Given the description of an element on the screen output the (x, y) to click on. 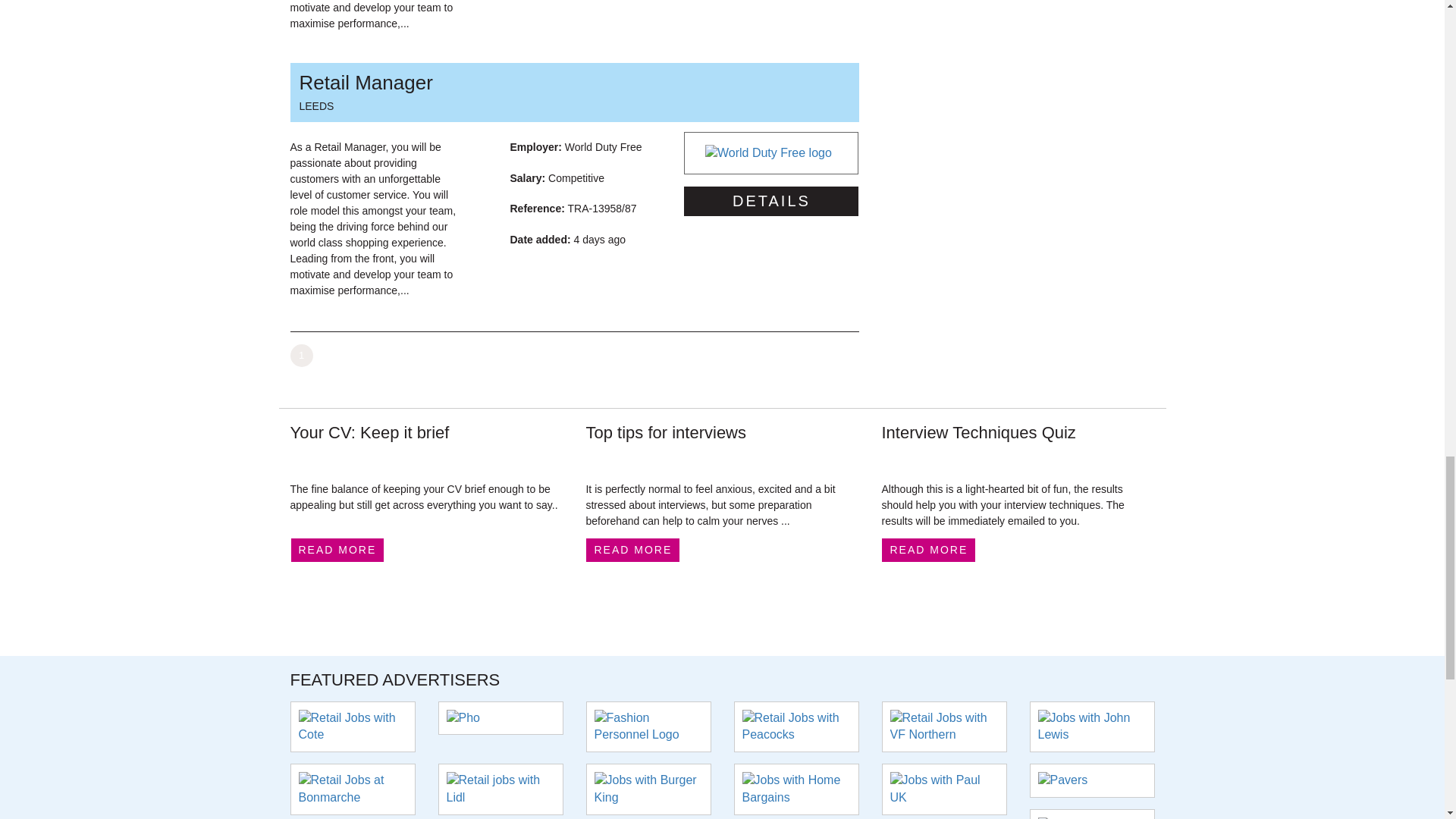
READ MORE (336, 549)
READ MORE (632, 549)
DETAILS (573, 92)
1 (771, 201)
